Given the description of an element on the screen output the (x, y) to click on. 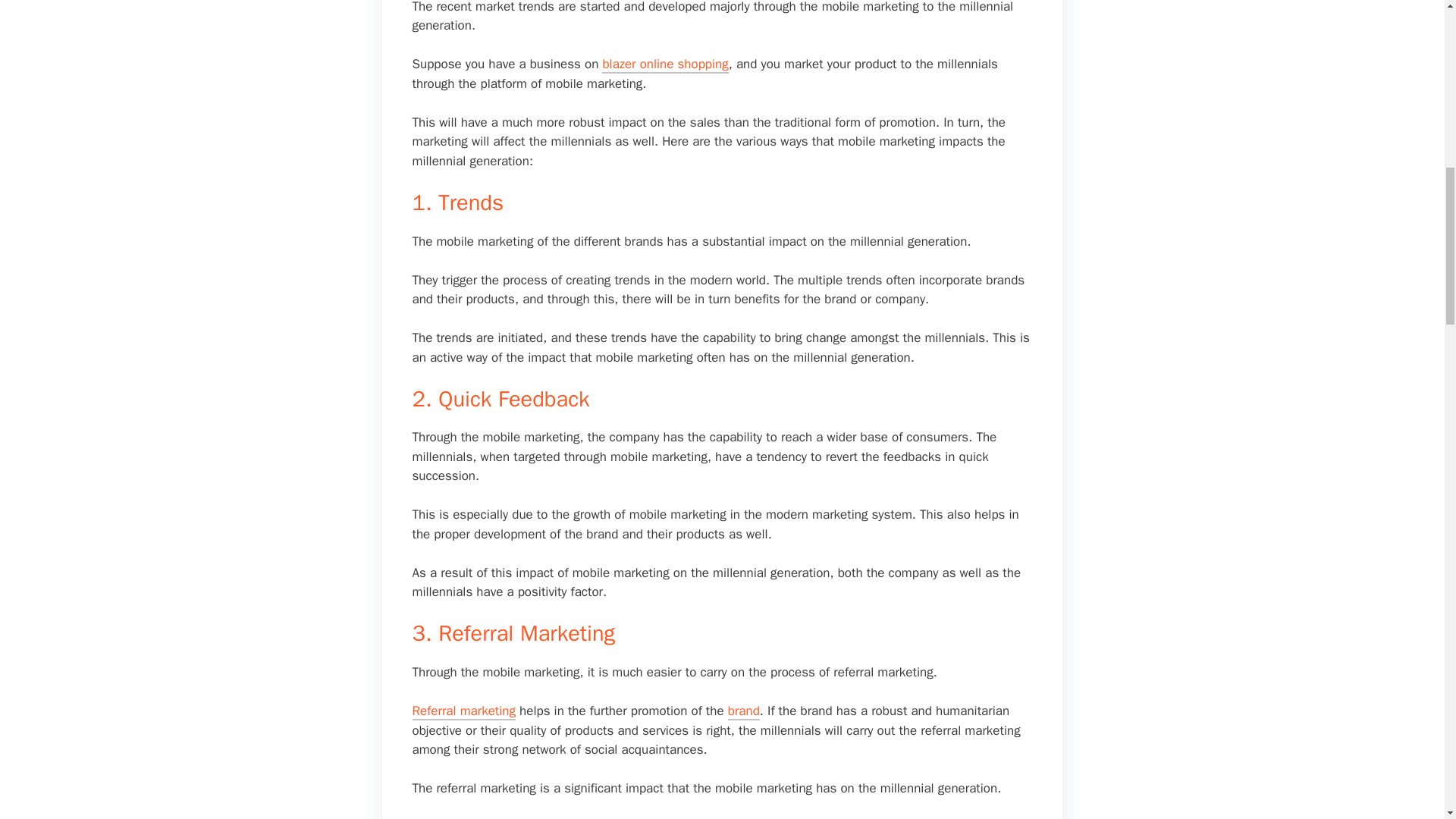
Scroll back to top (1406, 720)
